Given the description of an element on the screen output the (x, y) to click on. 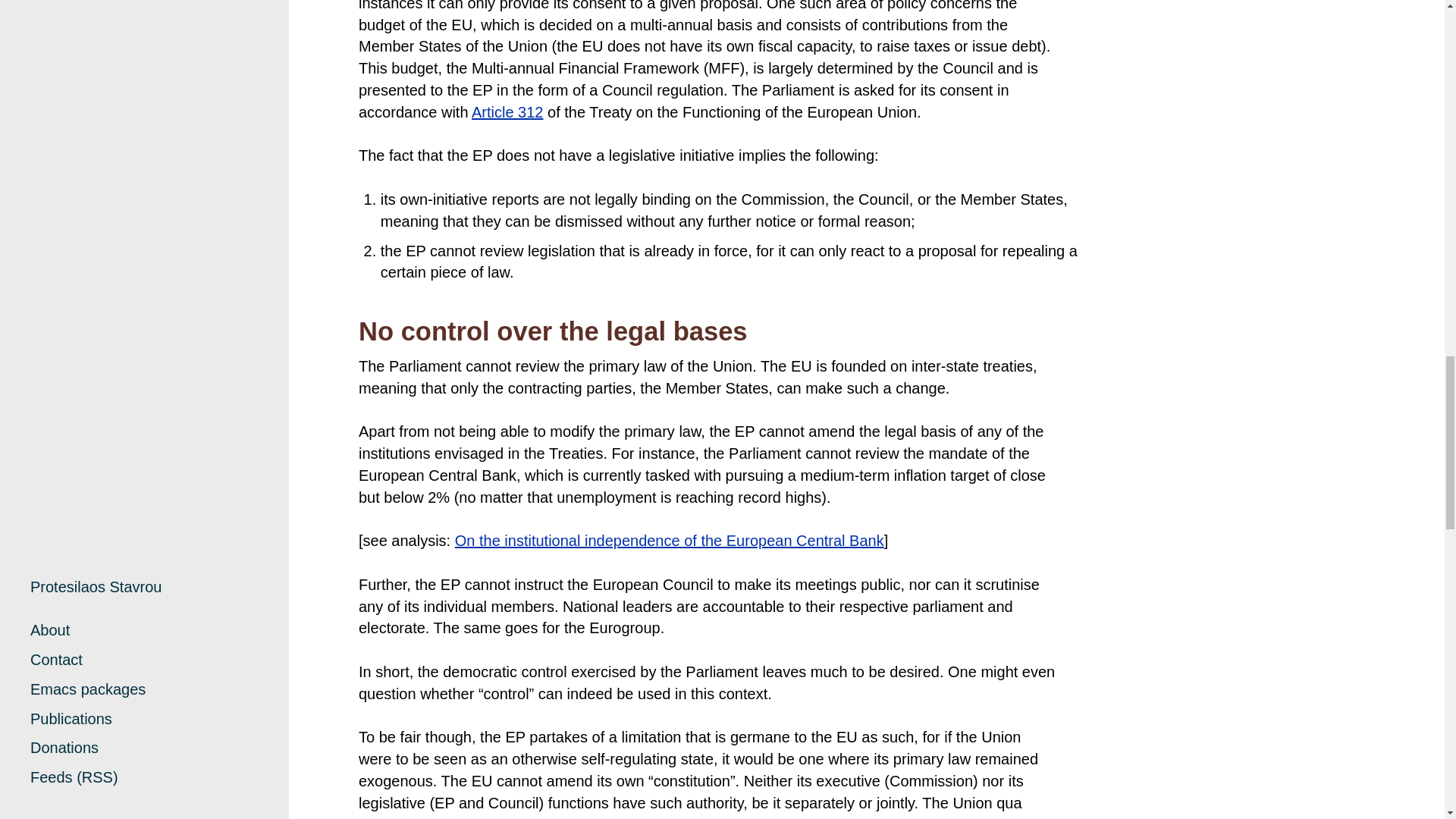
Article 312 (507, 112)
